Given the description of an element on the screen output the (x, y) to click on. 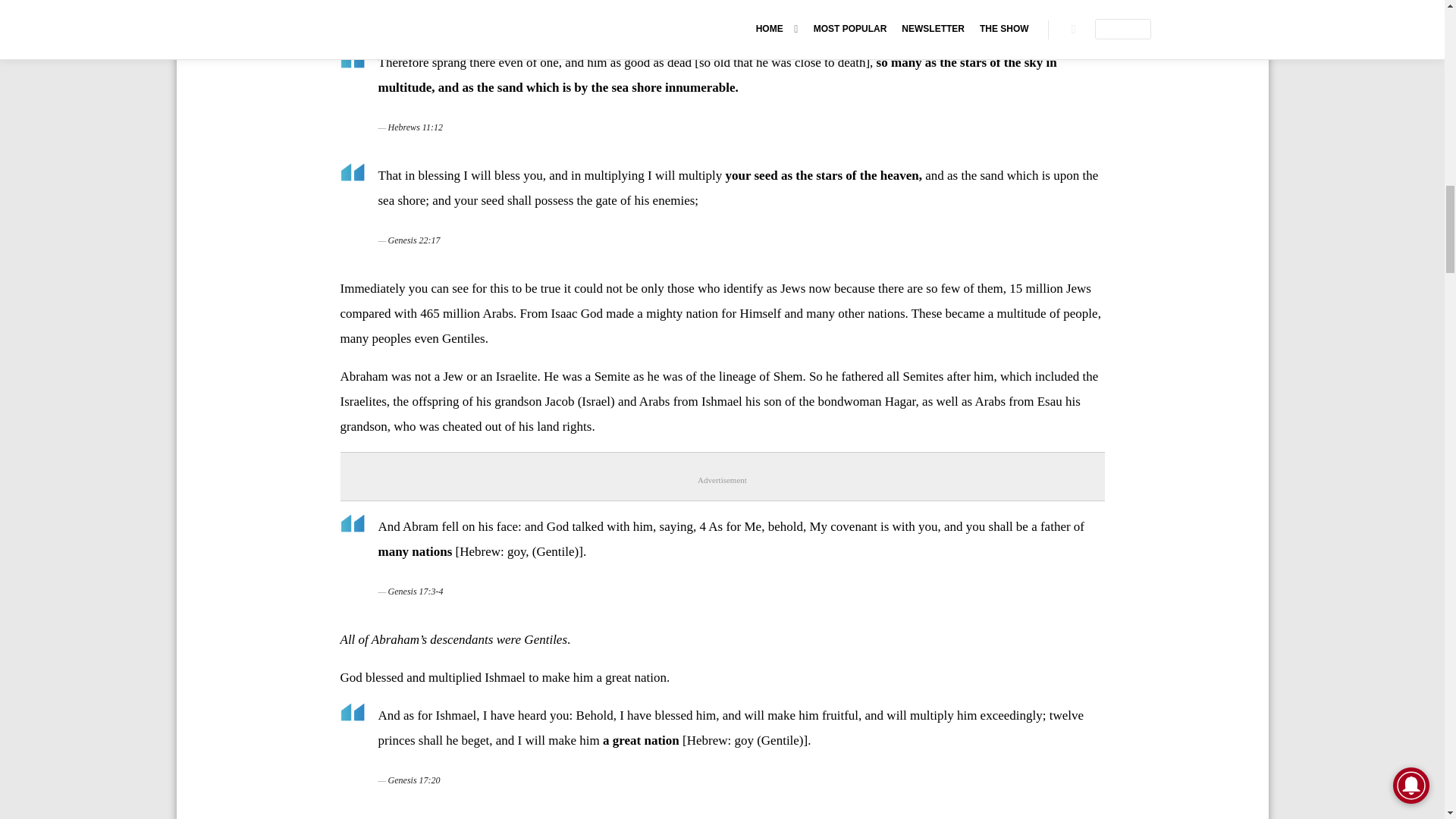
Genesis 22:17 (414, 240)
Hebrews 11:12 (415, 127)
